Given the description of an element on the screen output the (x, y) to click on. 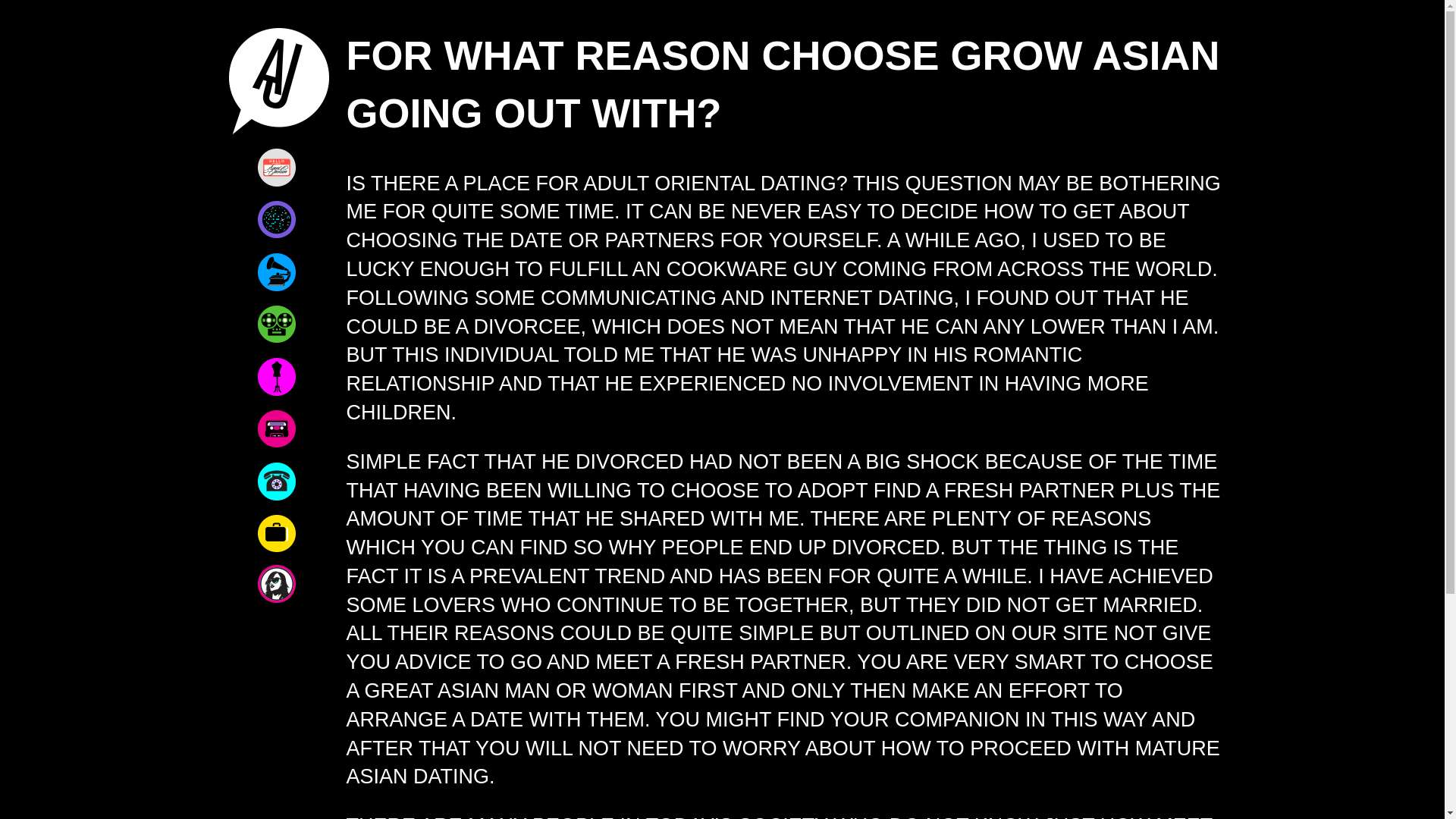
AGENT JACKSON :: LOVE IS LIFE. LIFE IS LOVE (276, 80)
